Given the description of an element on the screen output the (x, y) to click on. 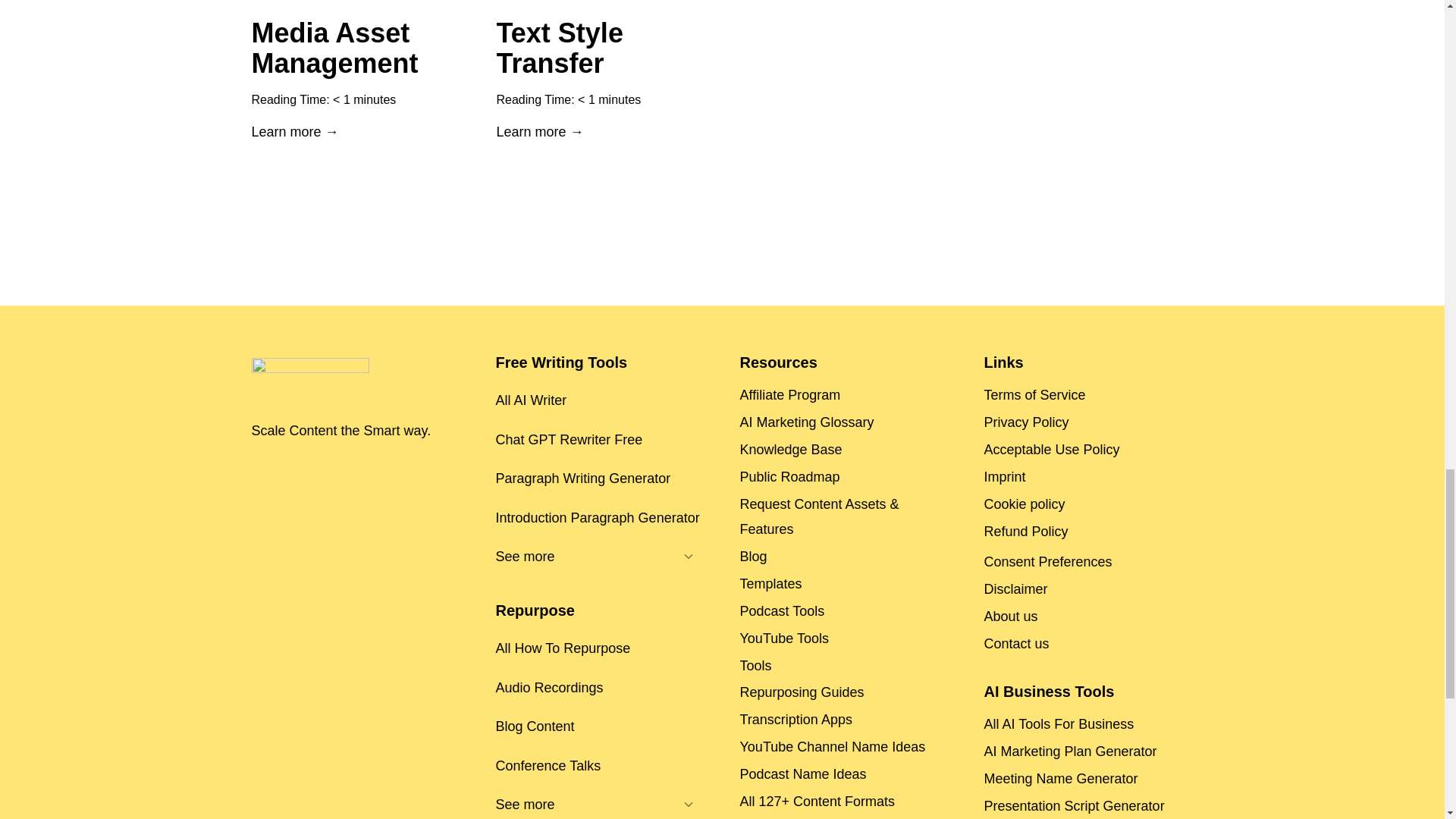
Chat GPT Rewriter Free (600, 439)
Paragraph Writing Generator (600, 478)
All AI Writer (600, 400)
Media Asset Management (354, 48)
Text Style Transfer (599, 48)
Introduction Paragraph Generator (600, 517)
See more (583, 556)
